Given the description of an element on the screen output the (x, y) to click on. 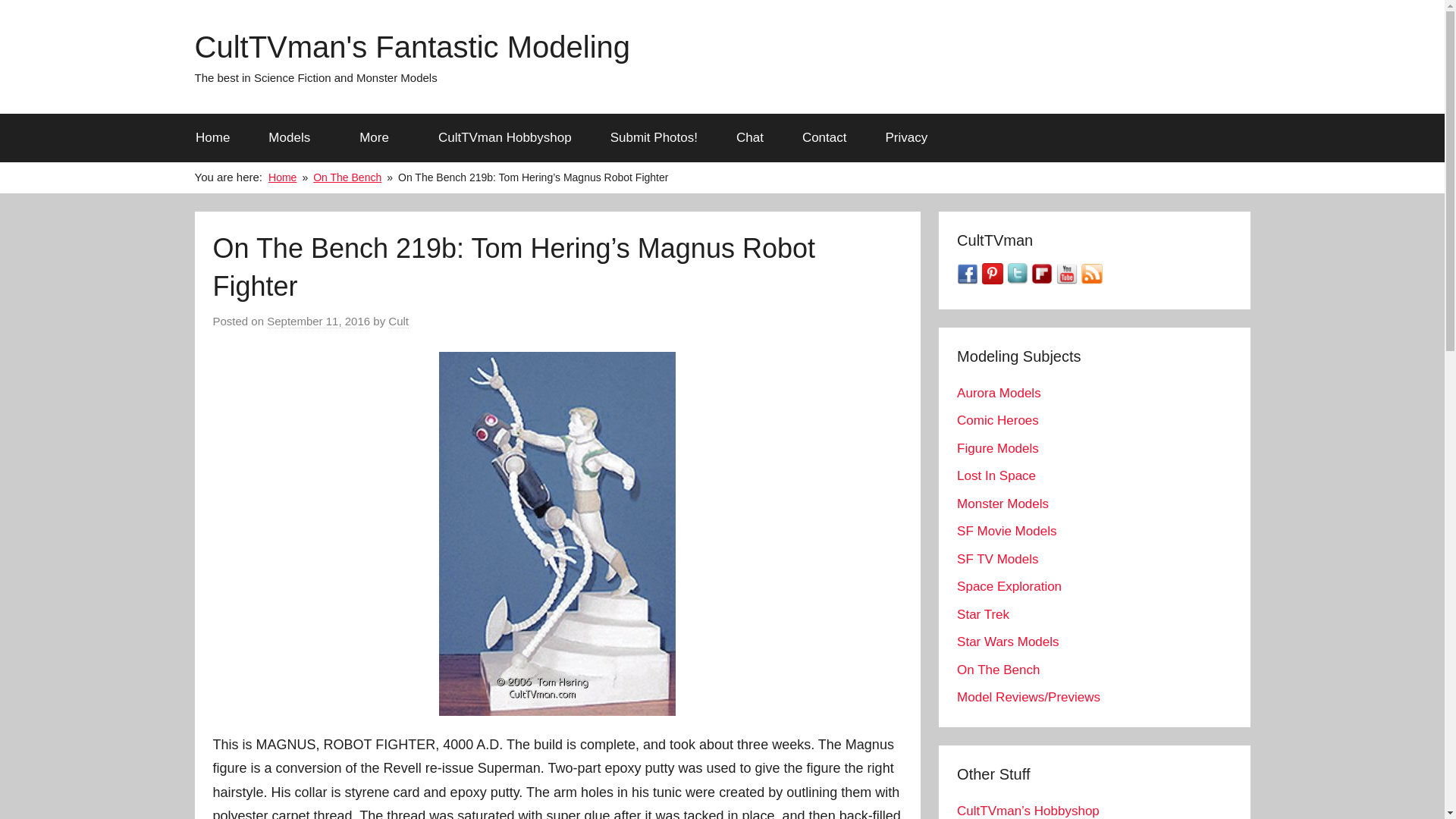
Models (294, 137)
Home (282, 177)
Twitter (1019, 279)
Home (212, 137)
Facebook (968, 279)
Submit Photos! (653, 137)
Flipboard (1041, 279)
CultTVman Hobbyshop (505, 137)
YouTube (1069, 279)
Contact (824, 137)
